Given the description of an element on the screen output the (x, y) to click on. 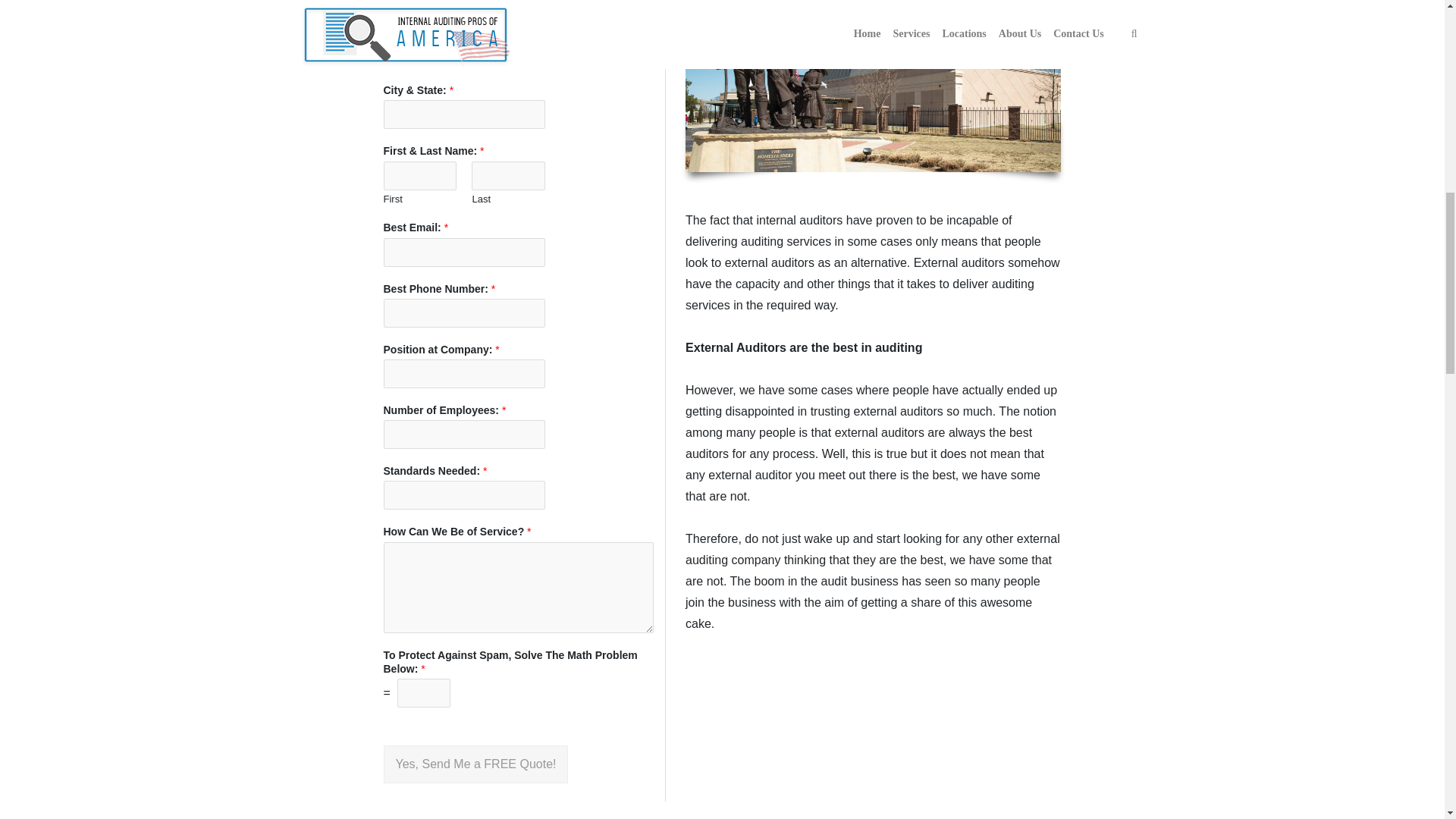
Enid OK-Internal Auditing Pros of America (873, 85)
Yes, Send Me a FREE Quote! (476, 763)
